Given the description of an element on the screen output the (x, y) to click on. 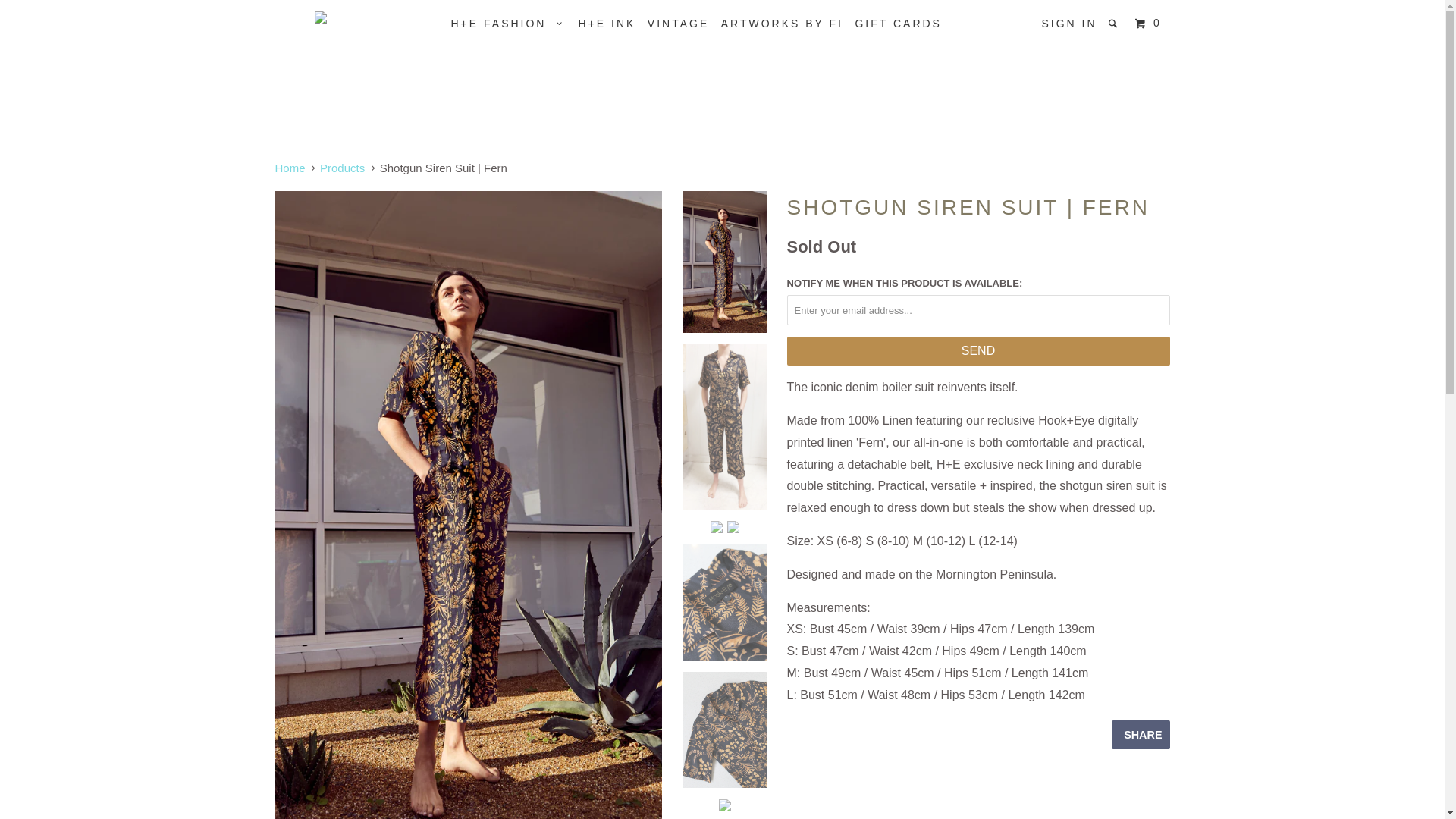
VINTAGE Element type: text (678, 23)
Hook+Eye Element type: hover (351, 17)
Home Element type: text (289, 167)
H+E INK Element type: text (606, 23)
0 Element type: text (1149, 23)
ARTWORKS BY FI Element type: text (782, 23)
Products Element type: text (342, 167)
Send Element type: text (978, 350)
Search Element type: hover (1114, 23)
H+E FASHION   Element type: text (508, 23)
SIGN IN Element type: text (1068, 23)
GIFT CARDS Element type: text (897, 23)
